Given the description of an element on the screen output the (x, y) to click on. 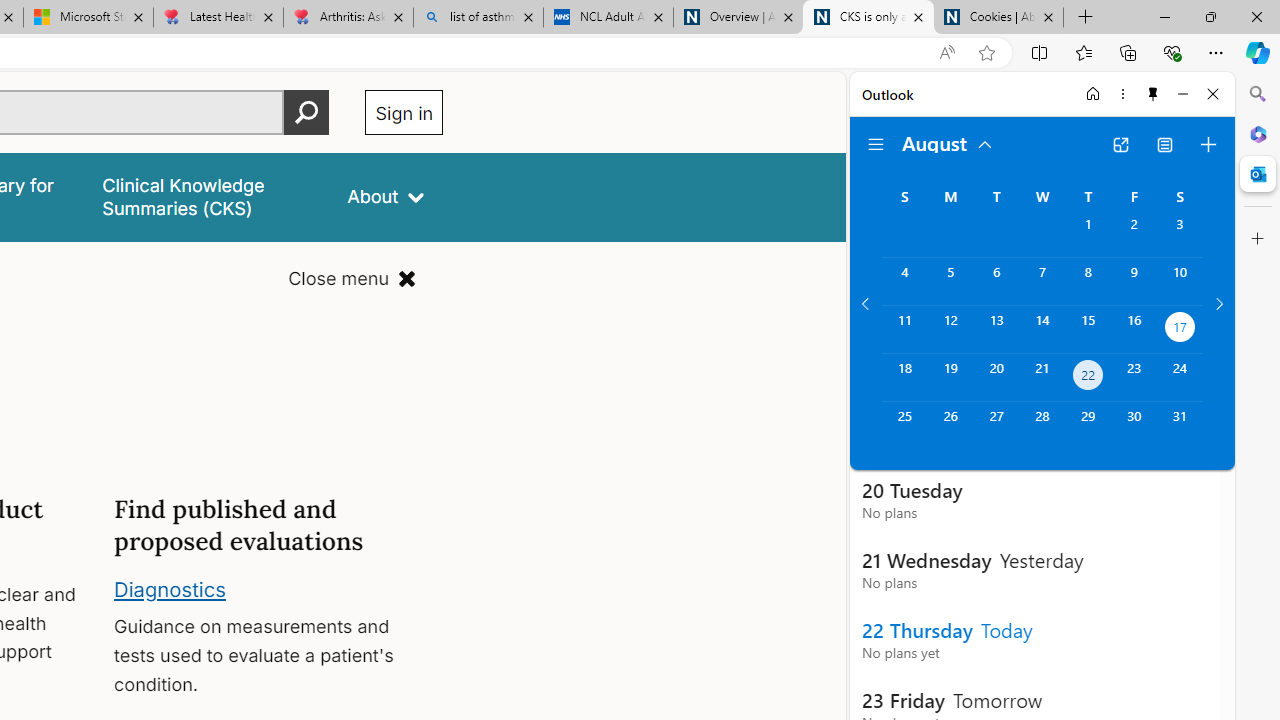
Saturday, August 10, 2024.  (1180, 281)
Sunday, August 11, 2024.  (904, 329)
Close Customize pane (1258, 239)
Wednesday, August 21, 2024.  (1042, 377)
Tuesday, August 27, 2024.  (996, 425)
Arthritis: Ask Health Professionals (348, 17)
Monday, August 5, 2024.  (950, 281)
Diagnostics (169, 588)
Sunday, August 18, 2024.  (904, 377)
Thursday, August 22, 2024. Today.  (1088, 377)
